Given the description of an element on the screen output the (x, y) to click on. 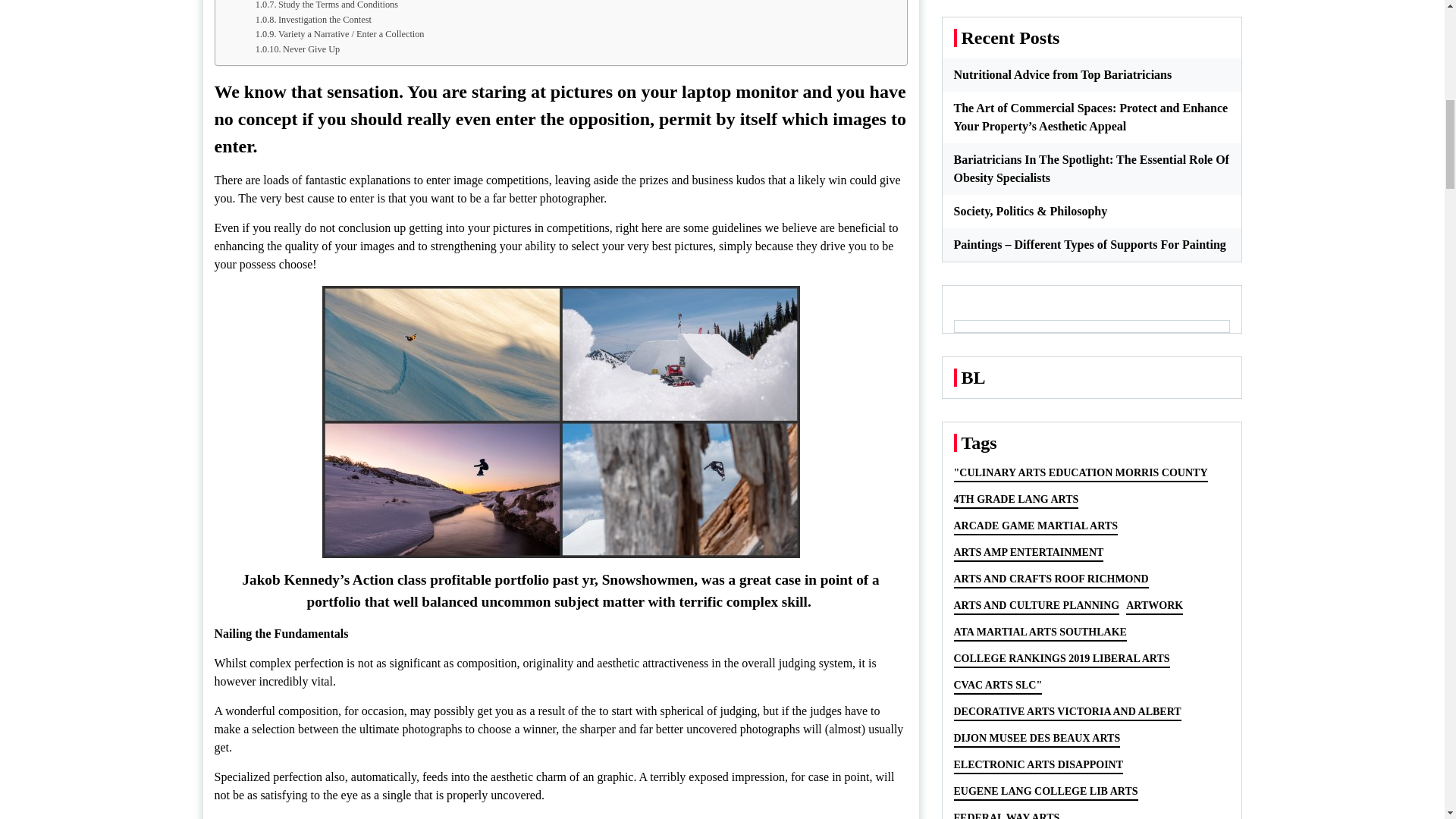
Investigation the Contest (313, 20)
